Given the description of an element on the screen output the (x, y) to click on. 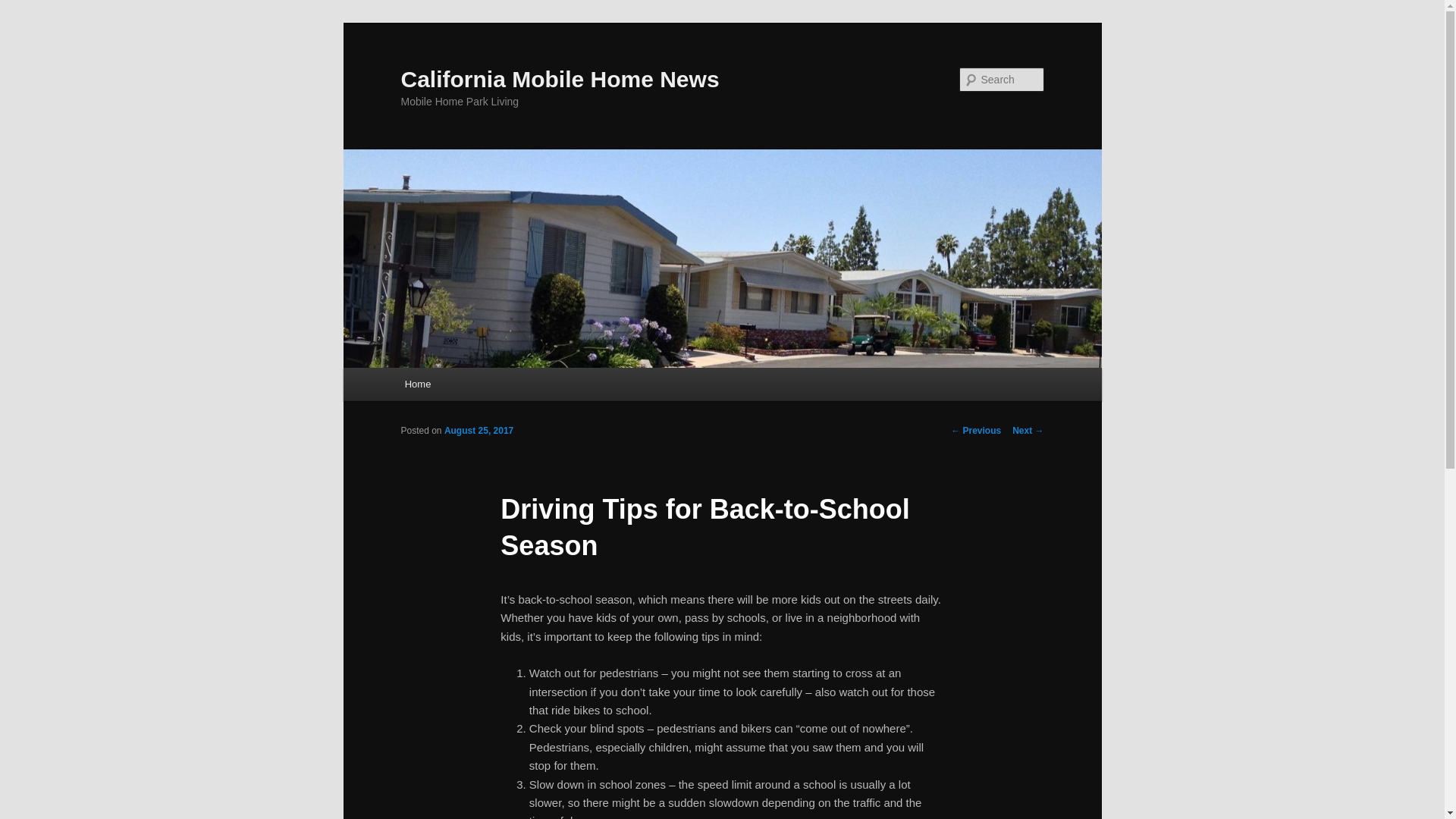
12:43 pm (478, 430)
August 25, 2017 (478, 430)
California Mobile Home News (559, 78)
Search (24, 8)
Home (417, 383)
